Given the description of an element on the screen output the (x, y) to click on. 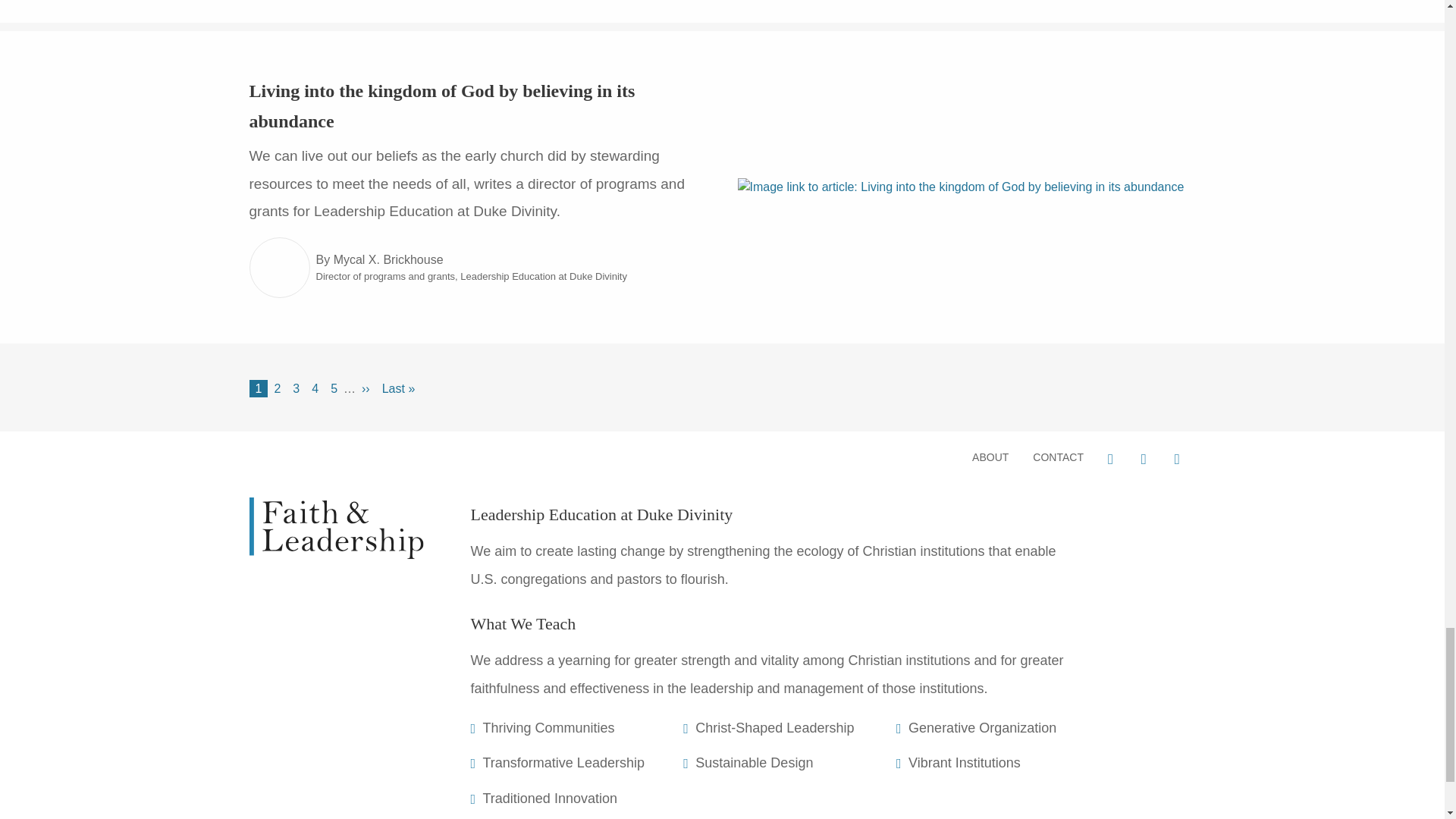
Go to page 5 (333, 388)
Go to next page (365, 388)
Go to page 4 (314, 388)
Go to last page (398, 388)
Current page (257, 388)
Go to page 3 (295, 388)
Go to page 2 (276, 388)
